Given the description of an element on the screen output the (x, y) to click on. 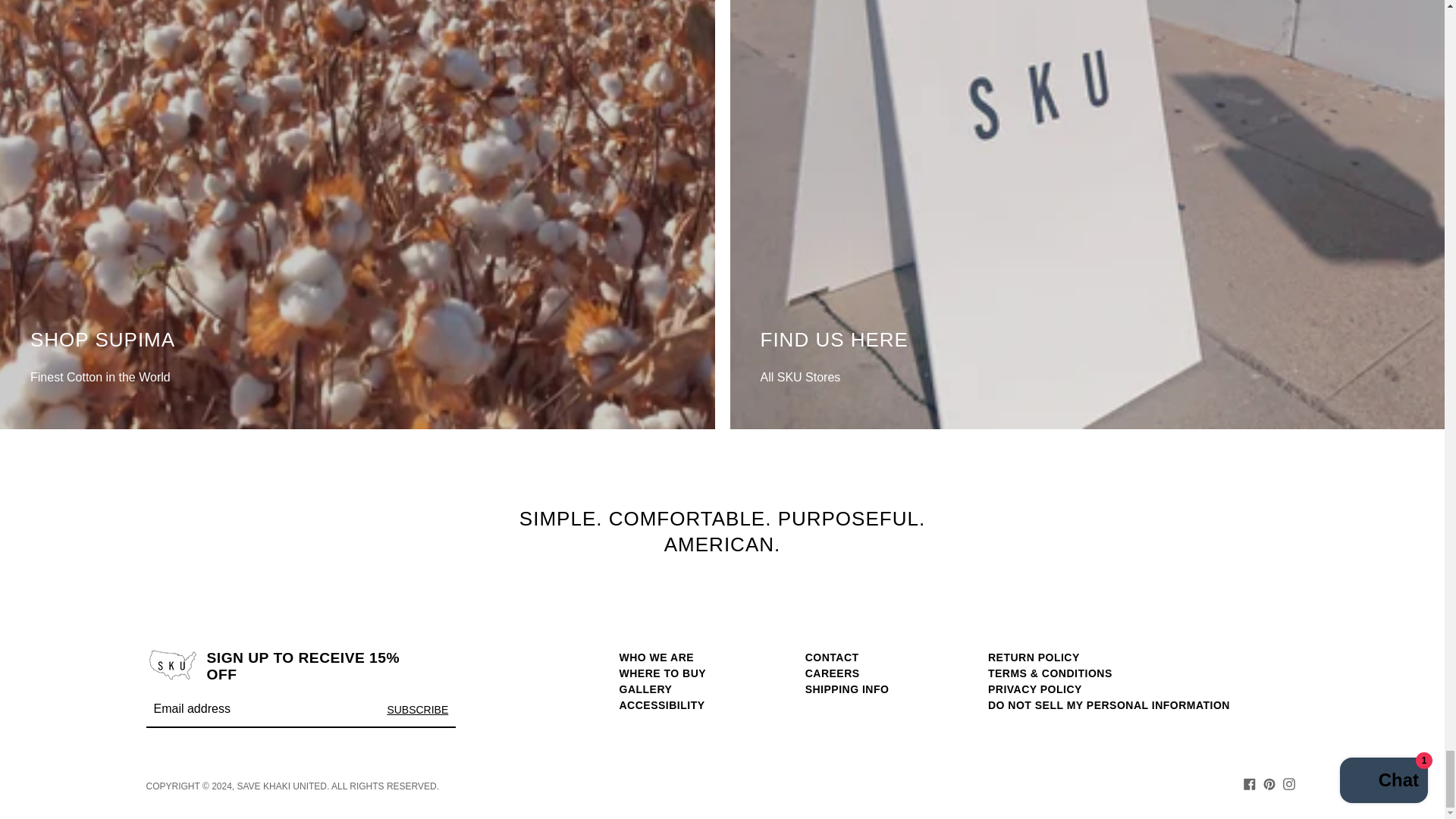
Save Khaki United on Pinterest (1269, 782)
Save Khaki United on Instagram (1288, 782)
Save Khaki United on Facebook (1249, 782)
